Given the description of an element on the screen output the (x, y) to click on. 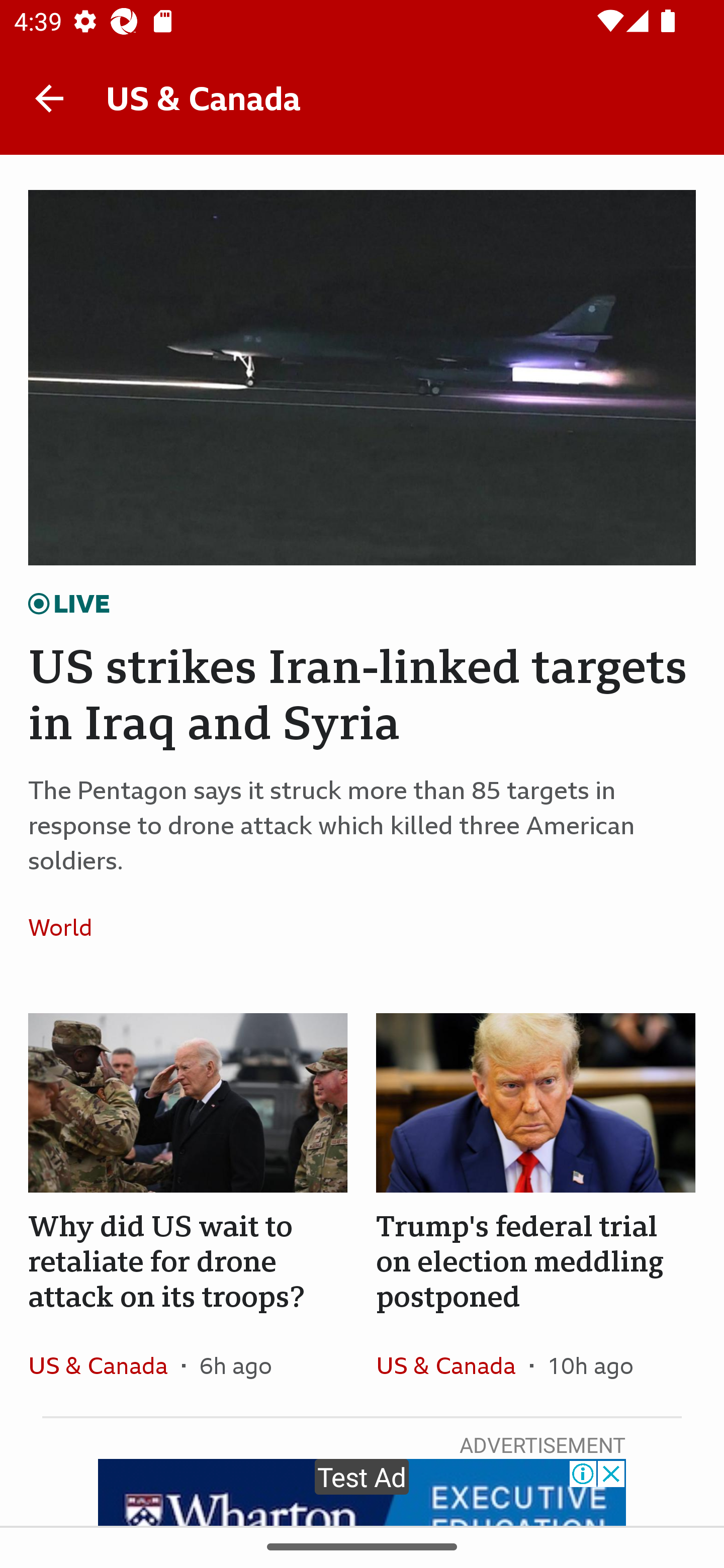
Back (49, 97)
World In the section World (67, 927)
US & Canada In the section US & Canada (104, 1364)
US & Canada In the section US & Canada (452, 1364)
